Given the description of an element on the screen output the (x, y) to click on. 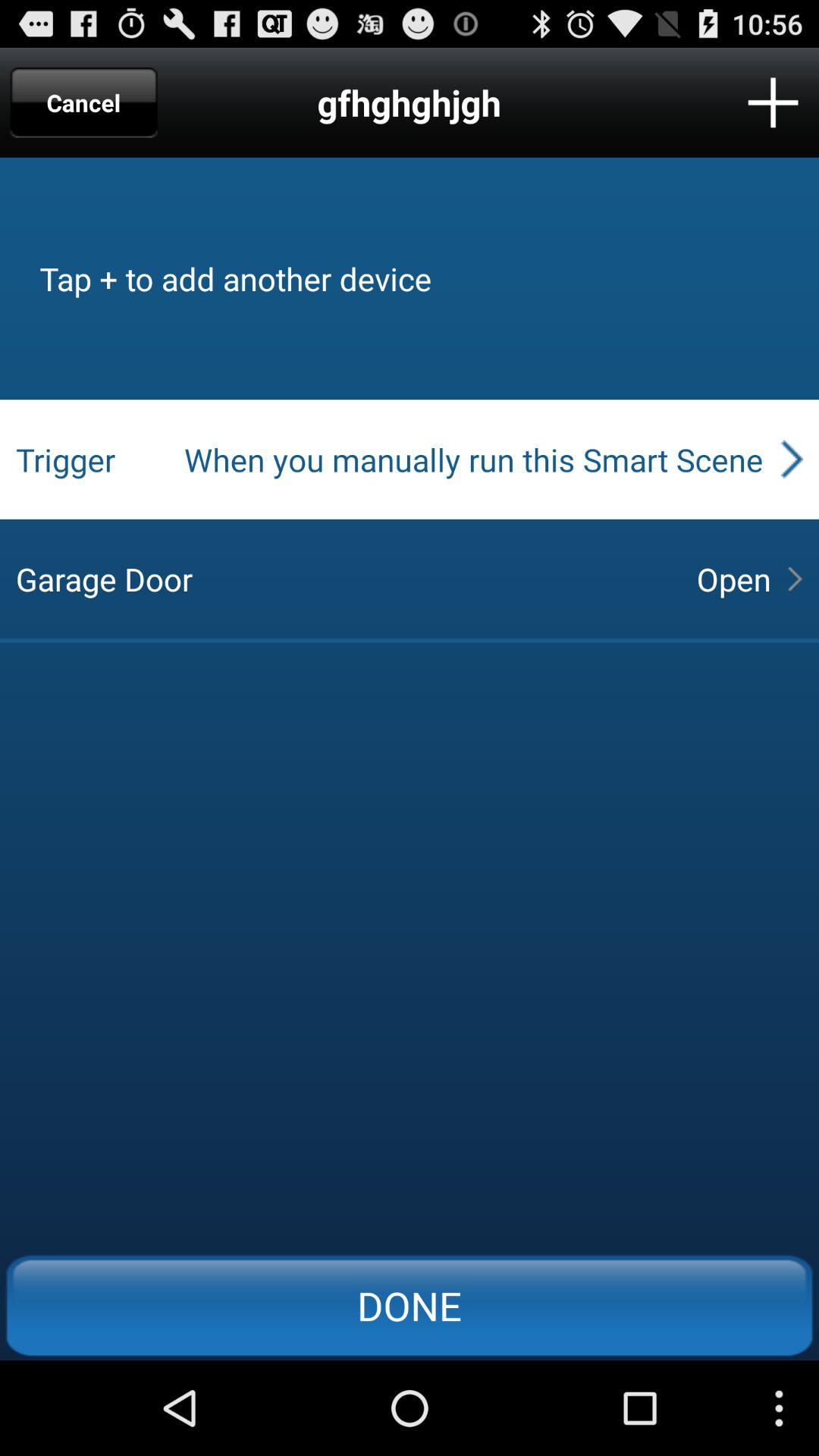
press the garage door at the center (342, 578)
